Given the description of an element on the screen output the (x, y) to click on. 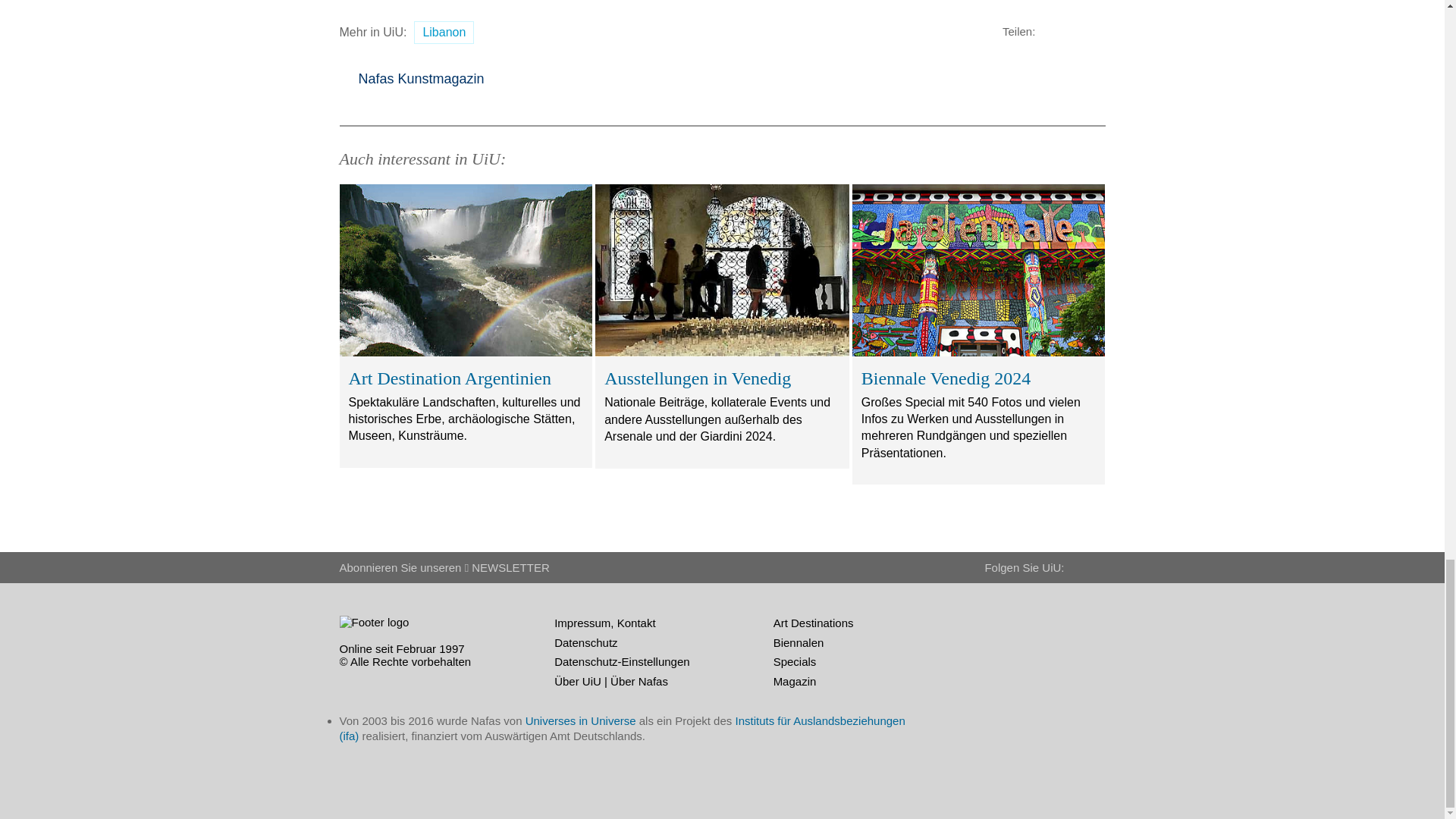
Art Destination Argentinien (465, 325)
Newsletter (507, 567)
Biennale Venedig 2024 (979, 270)
NEWSLETTER (507, 567)
About, Masthead, Service (401, 648)
Ausstellungen in Venedig 2024 (721, 326)
Nafas Kunstmagazin (411, 78)
Libanon (443, 32)
Art Destination Argentinien (465, 270)
Ausstellungen in Venedig (721, 270)
